Given the description of an element on the screen output the (x, y) to click on. 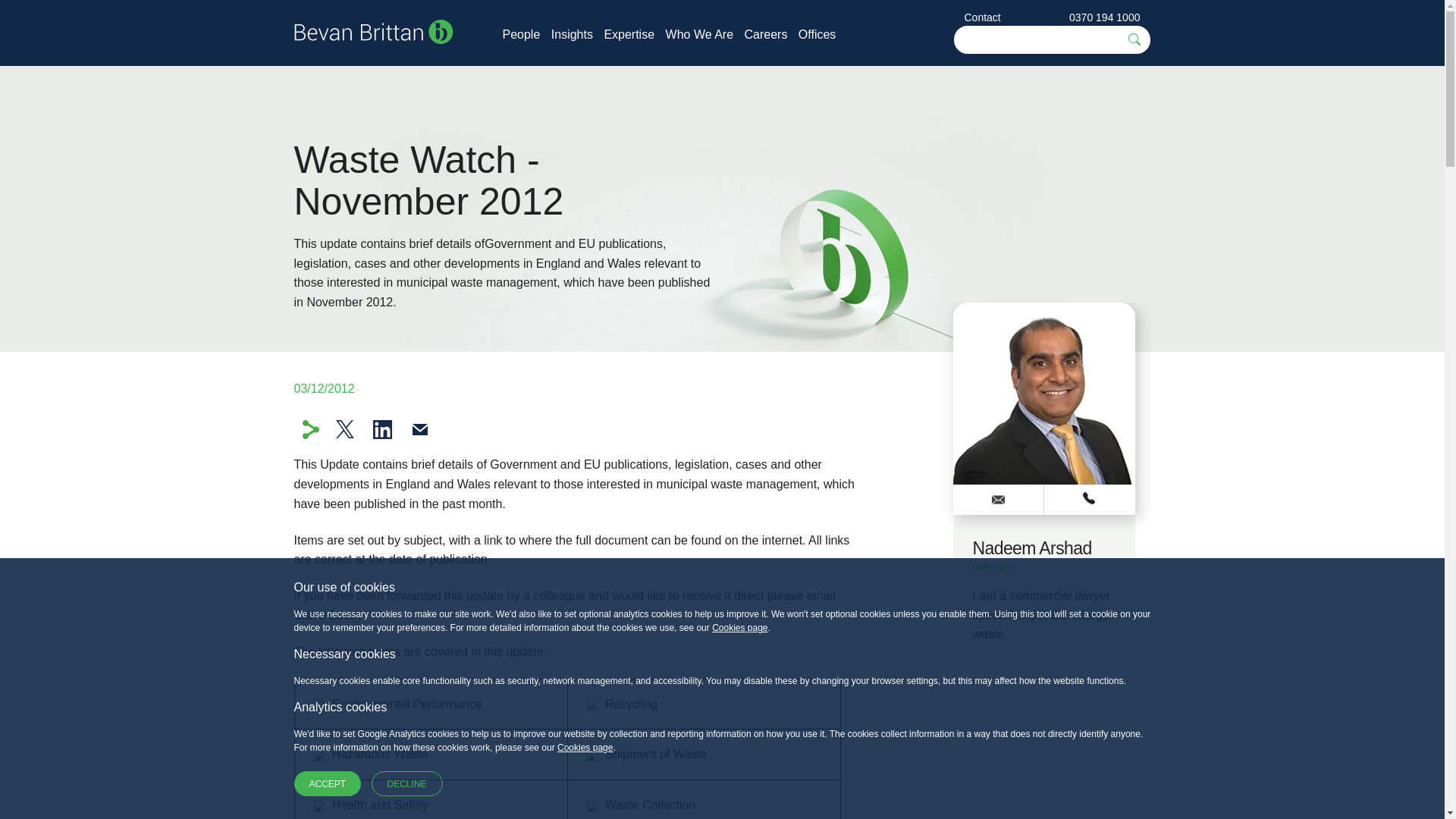
Insights (571, 33)
Health and Safety (379, 804)
Environmental Performance (406, 703)
Email (419, 429)
Who We Are (699, 33)
Recycling (631, 703)
Waste Collection (650, 804)
Contact (982, 17)
People (521, 33)
0370 194 1000 (1104, 17)
